Given the description of an element on the screen output the (x, y) to click on. 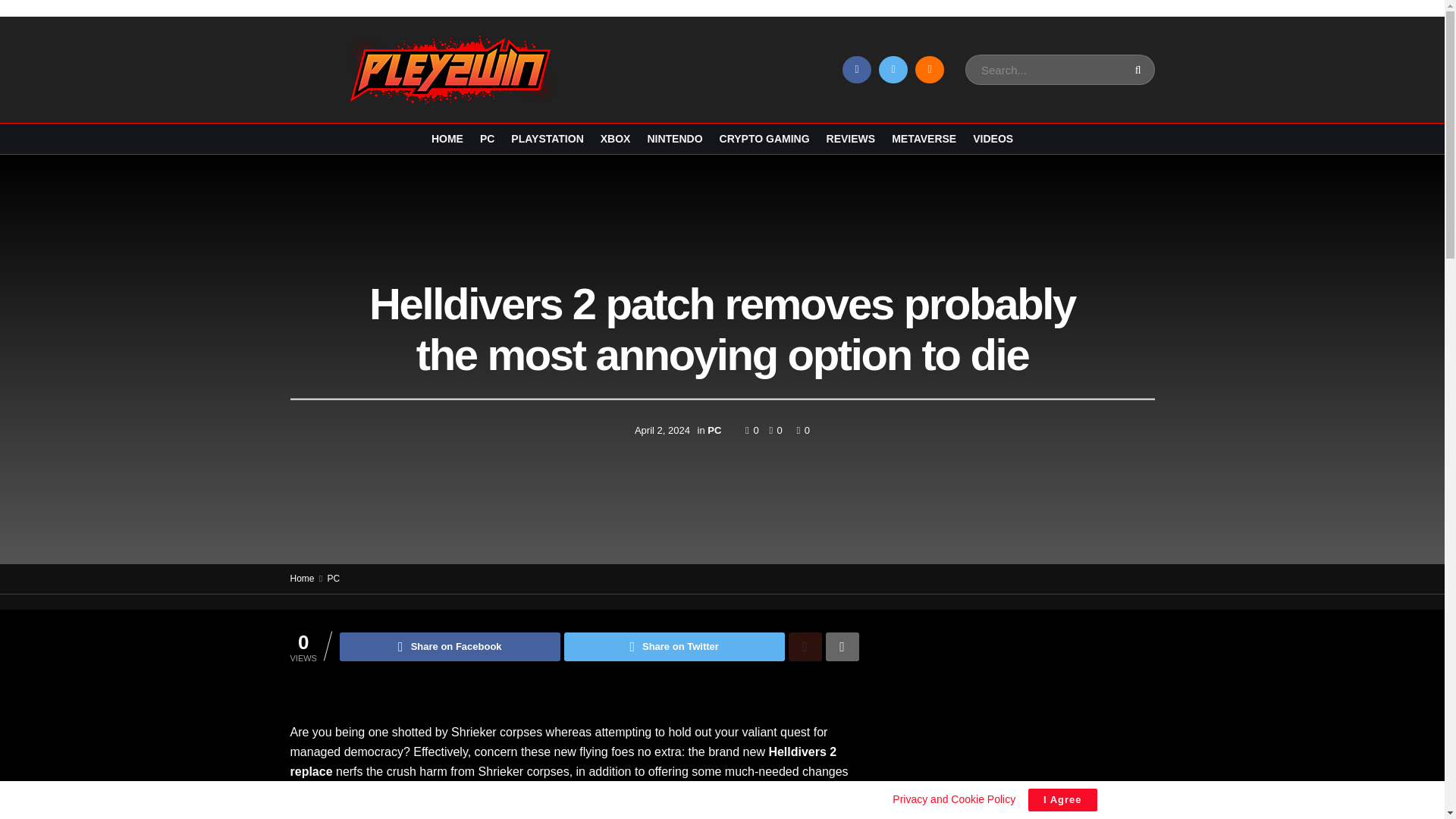
METAVERSE (923, 138)
Share on Facebook (449, 646)
Home (301, 578)
PC (713, 430)
NINTENDO (673, 138)
REVIEWS (851, 138)
VIDEOS (992, 138)
PLAYSTATION (547, 138)
XBOX (614, 138)
0 (753, 430)
0 (772, 430)
Share on Twitter (674, 646)
April 2, 2024 (662, 430)
0 (802, 430)
PC (333, 578)
